Given the description of an element on the screen output the (x, y) to click on. 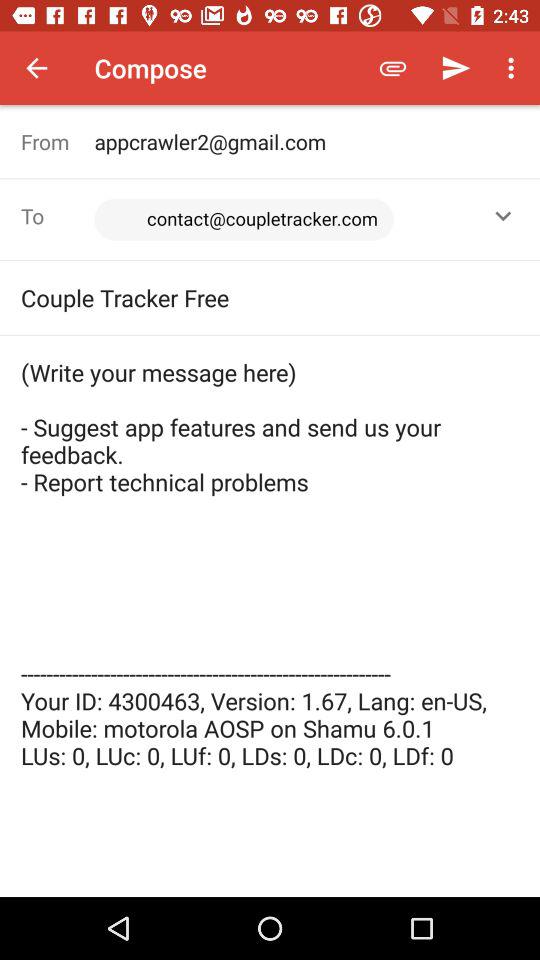
swipe to to icon (57, 215)
